Given the description of an element on the screen output the (x, y) to click on. 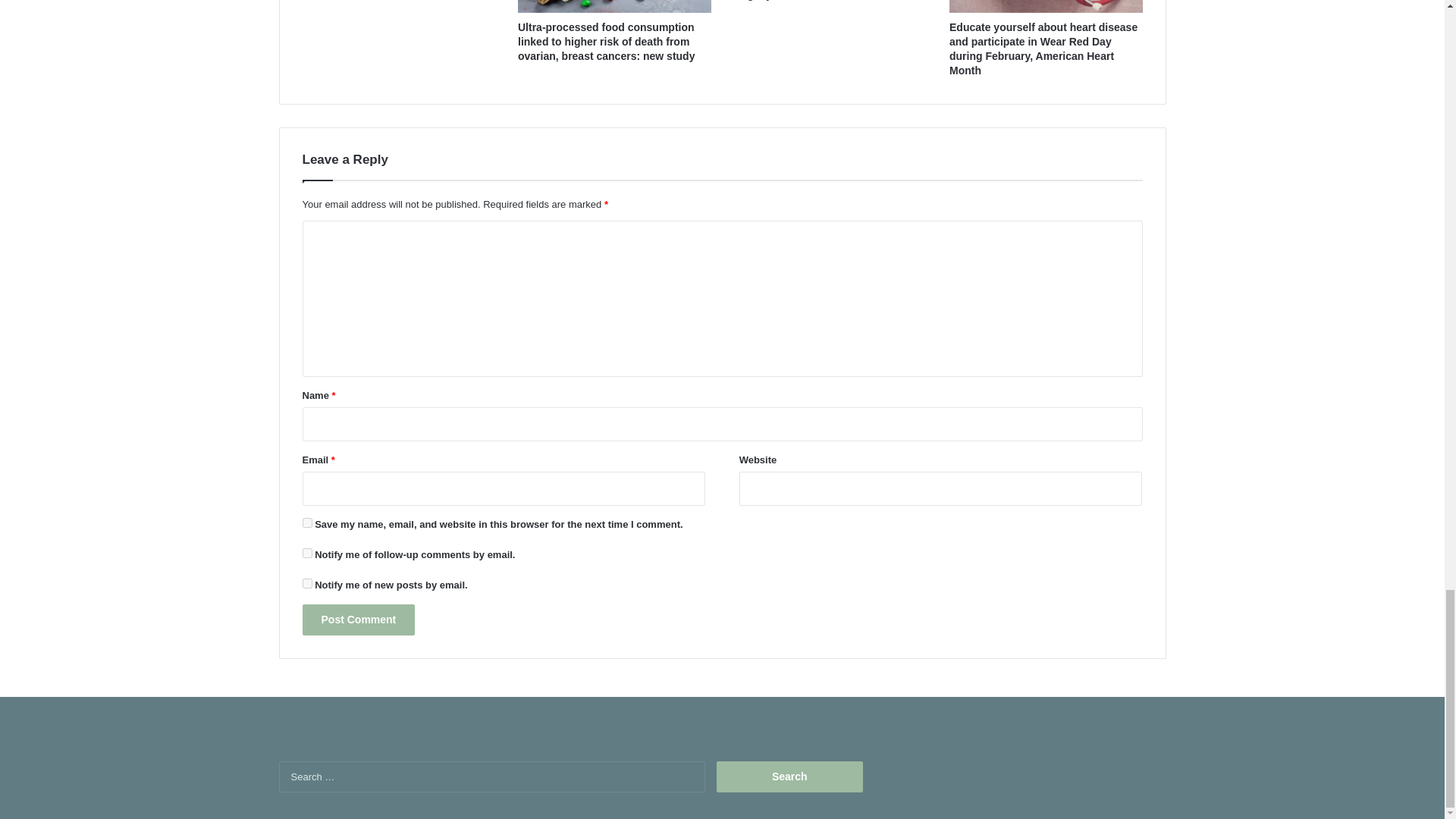
subscribe (306, 552)
Search (789, 776)
Post Comment (357, 619)
Search (789, 776)
yes (306, 522)
subscribe (306, 583)
